Given the description of an element on the screen output the (x, y) to click on. 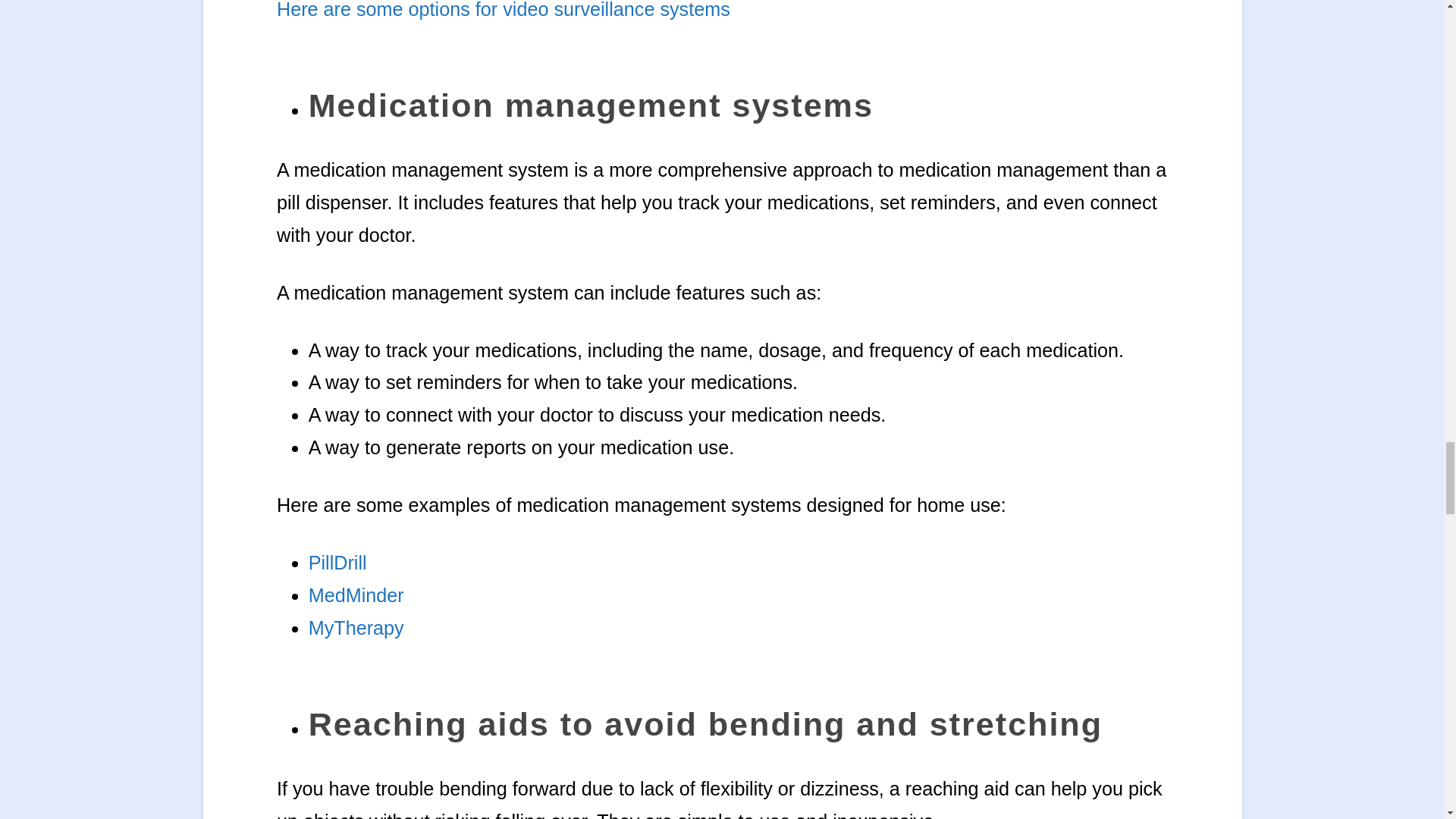
Here are some options for video surveillance systems (503, 9)
MyTherapy (356, 627)
MedMinder (356, 595)
PillDrill (337, 562)
